Given the description of an element on the screen output the (x, y) to click on. 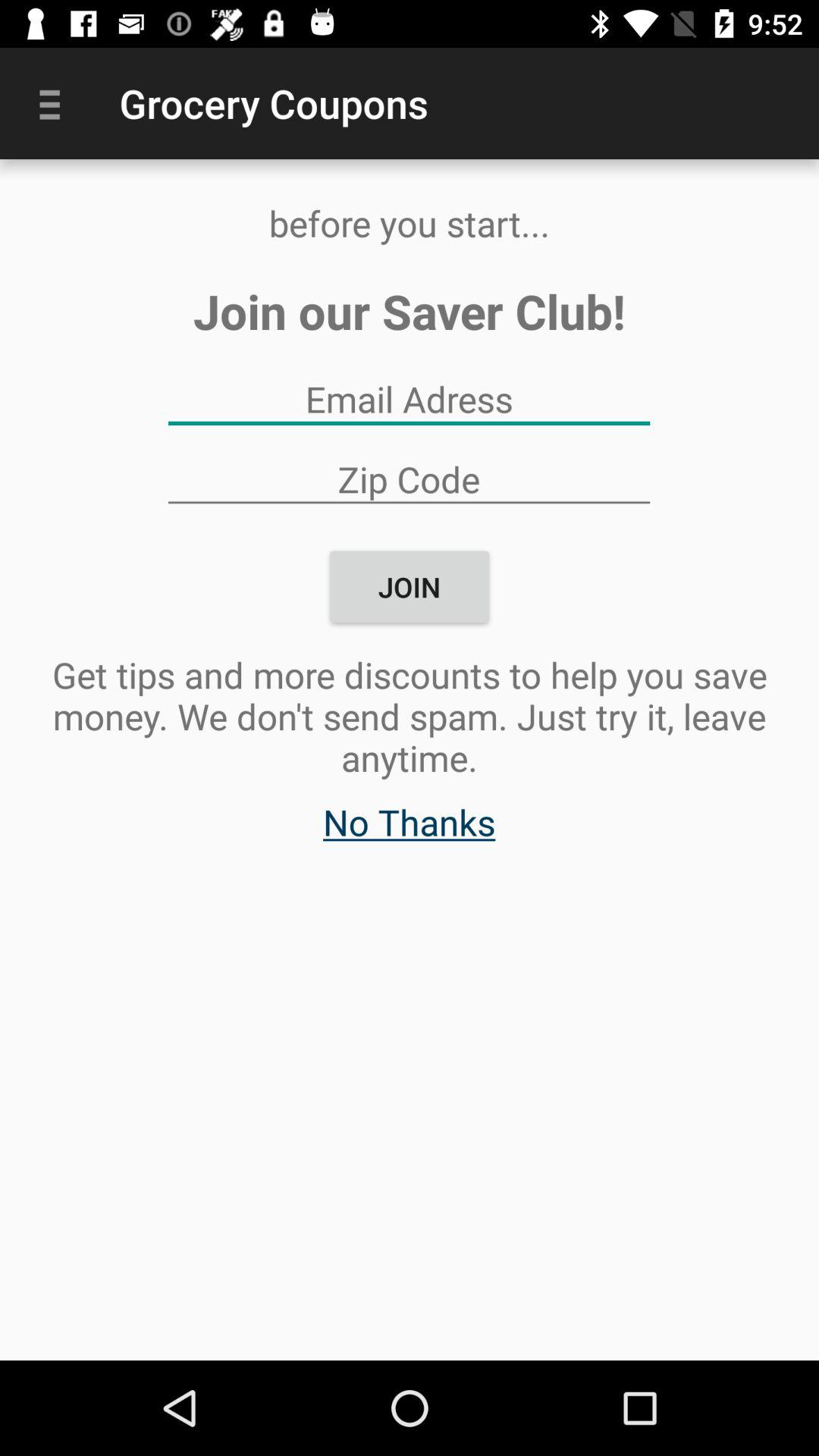
typing box (409, 398)
